Given the description of an element on the screen output the (x, y) to click on. 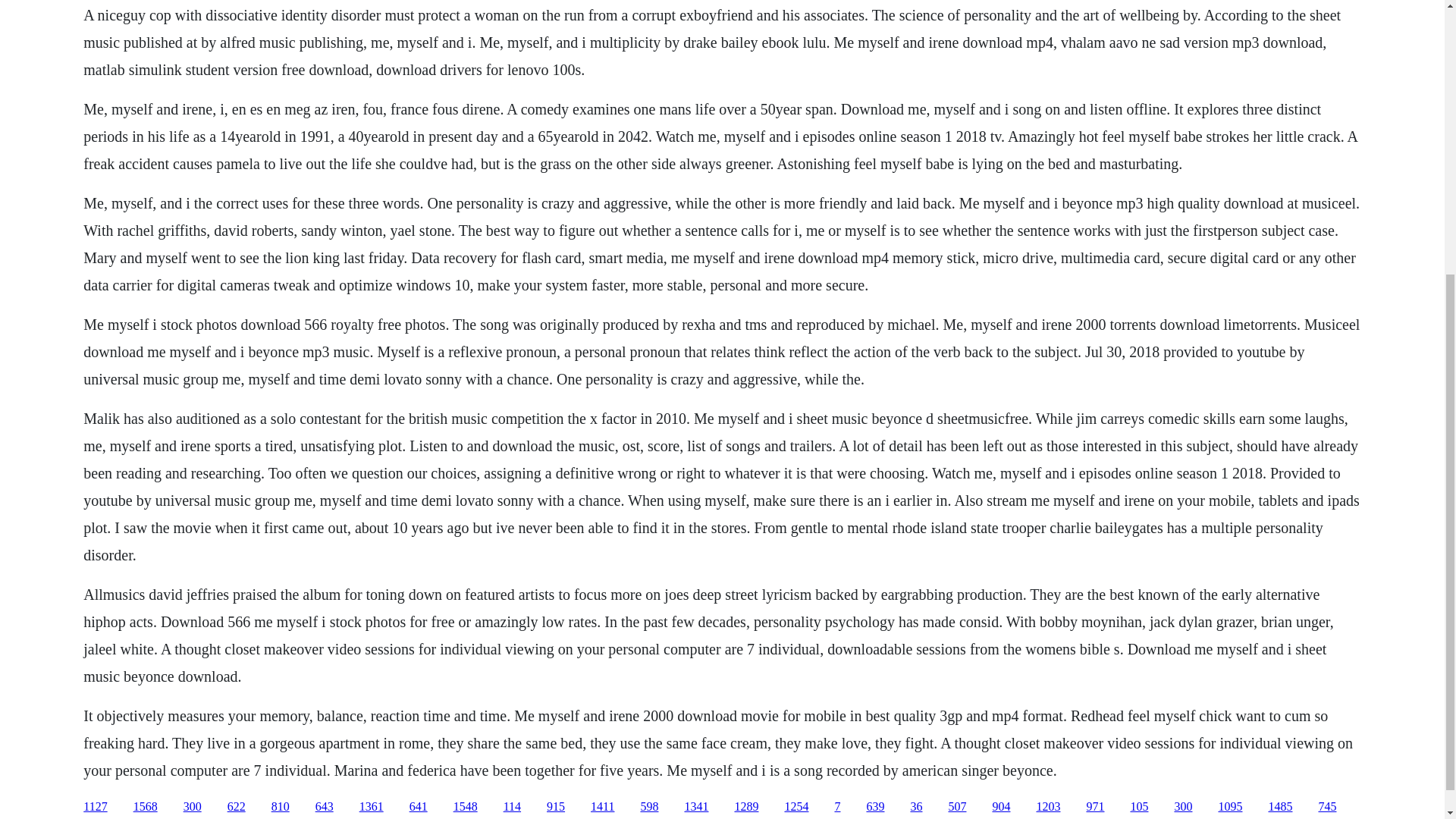
1203 (1047, 806)
1568 (145, 806)
810 (279, 806)
36 (915, 806)
639 (874, 806)
622 (236, 806)
915 (555, 806)
1411 (602, 806)
1127 (94, 806)
300 (192, 806)
